Given the description of an element on the screen output the (x, y) to click on. 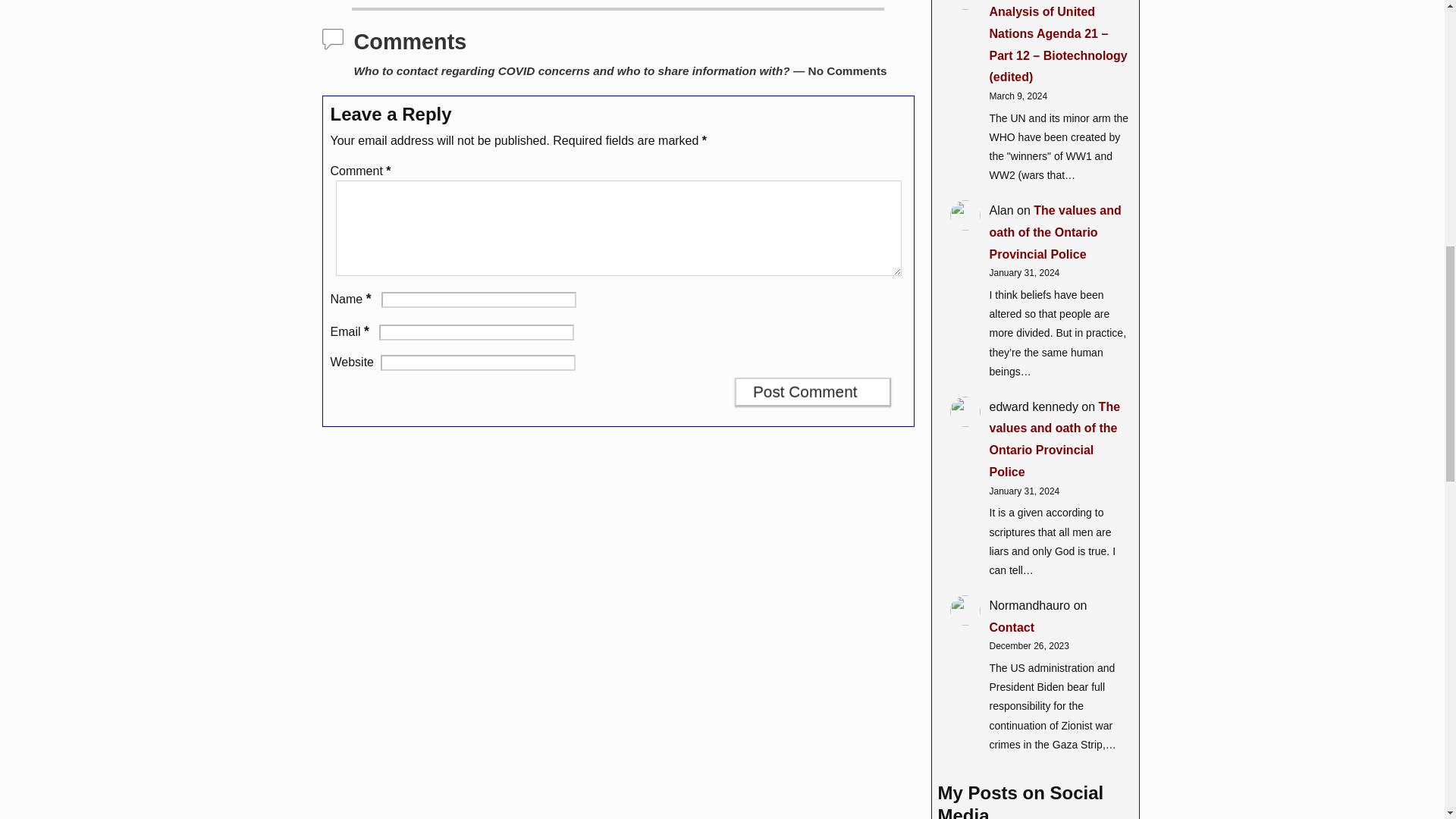
The values and oath of the Ontario Provincial Police (1053, 439)
The values and oath of the Ontario Provincial Police (1054, 232)
Post Comment (813, 391)
Post Comment (813, 391)
Contact (1010, 626)
